Given the description of an element on the screen output the (x, y) to click on. 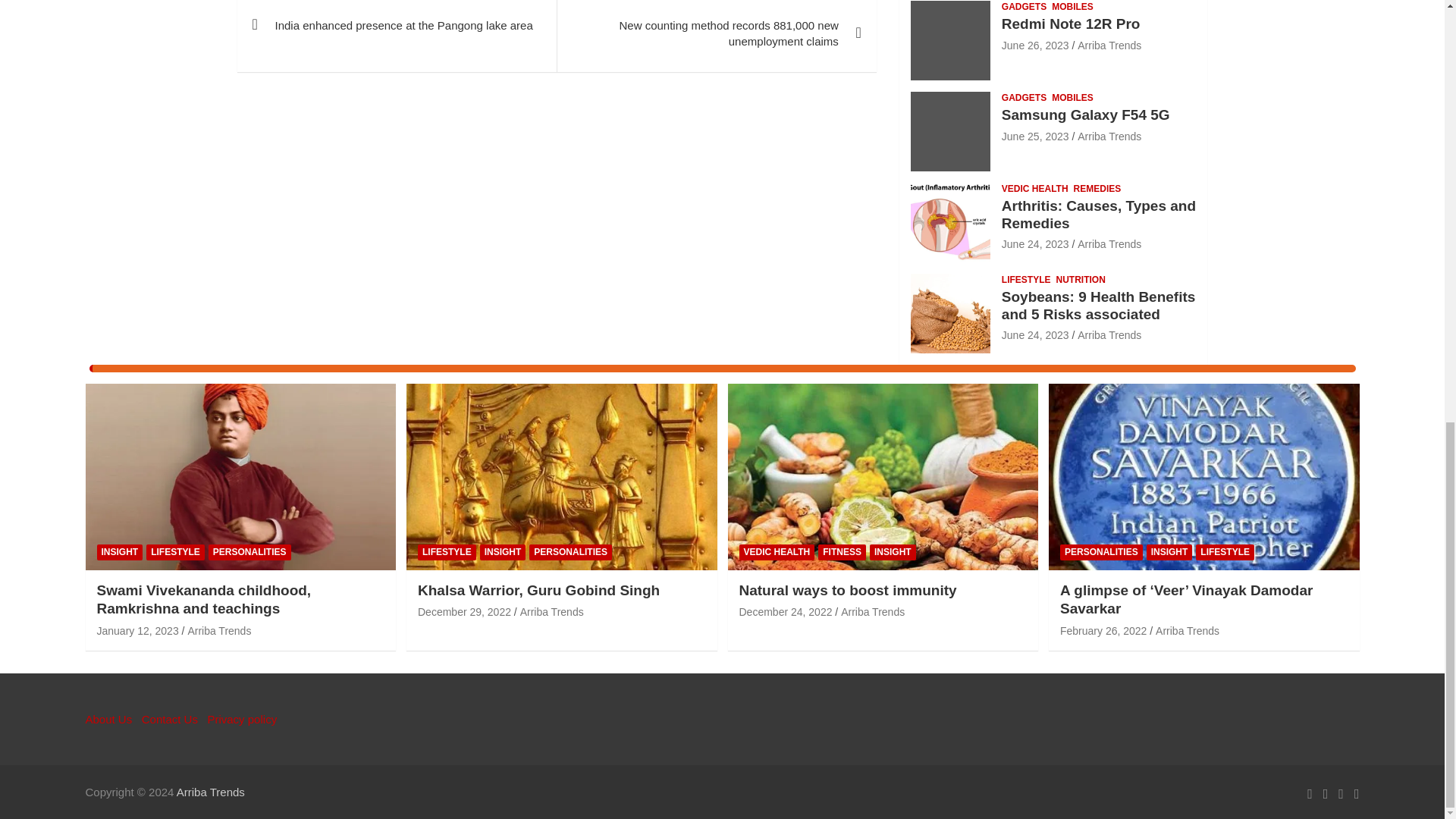
New counting method records 881,000 new unemployment claims (716, 36)
India enhanced presence at the Pangong lake area (395, 28)
